Given the description of an element on the screen output the (x, y) to click on. 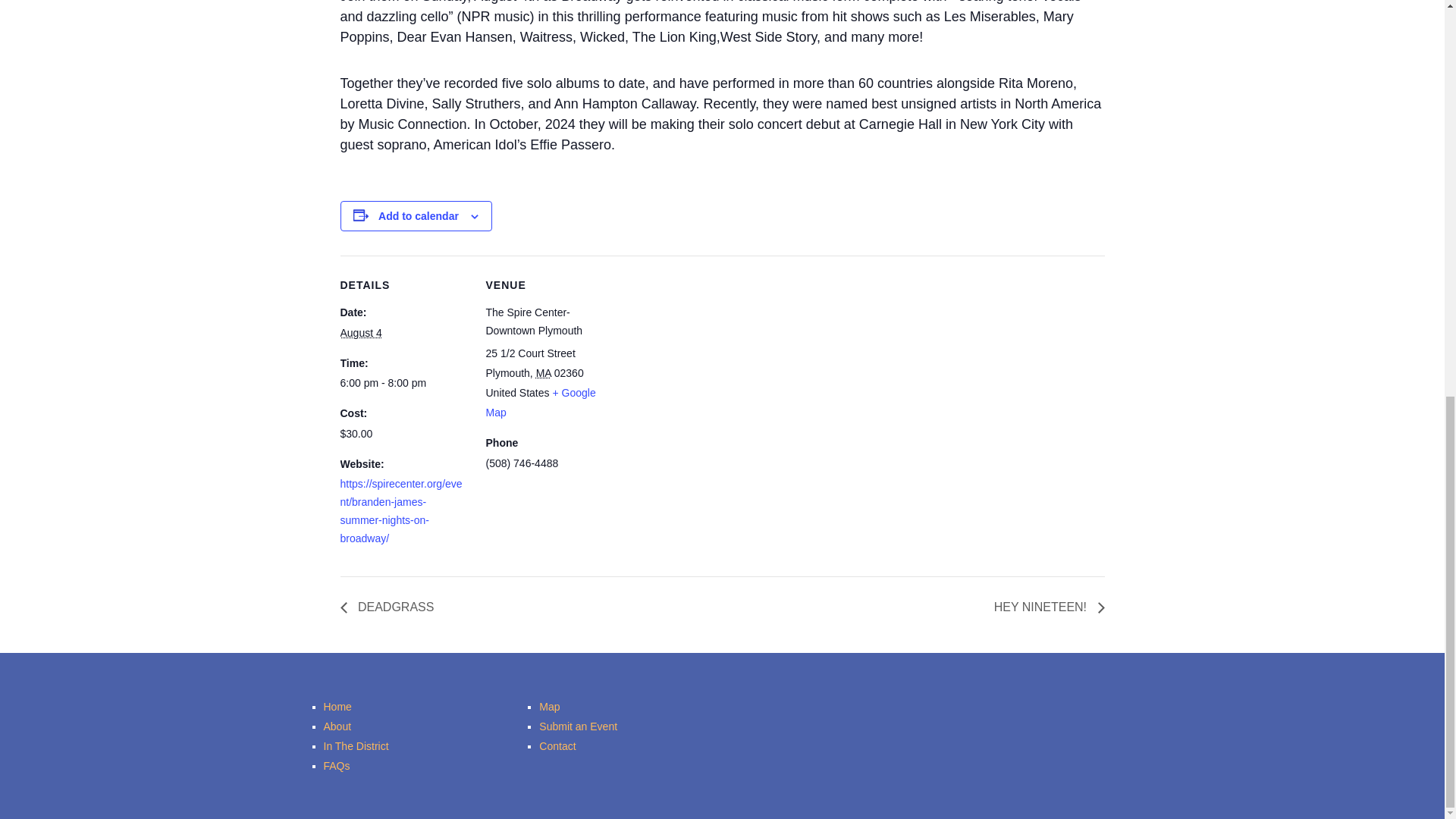
Massachusetts (543, 372)
Add to calendar (418, 215)
2024-08-04 (403, 383)
2024-08-04 (360, 332)
Click to view a Google Map (539, 402)
